Given the description of an element on the screen output the (x, y) to click on. 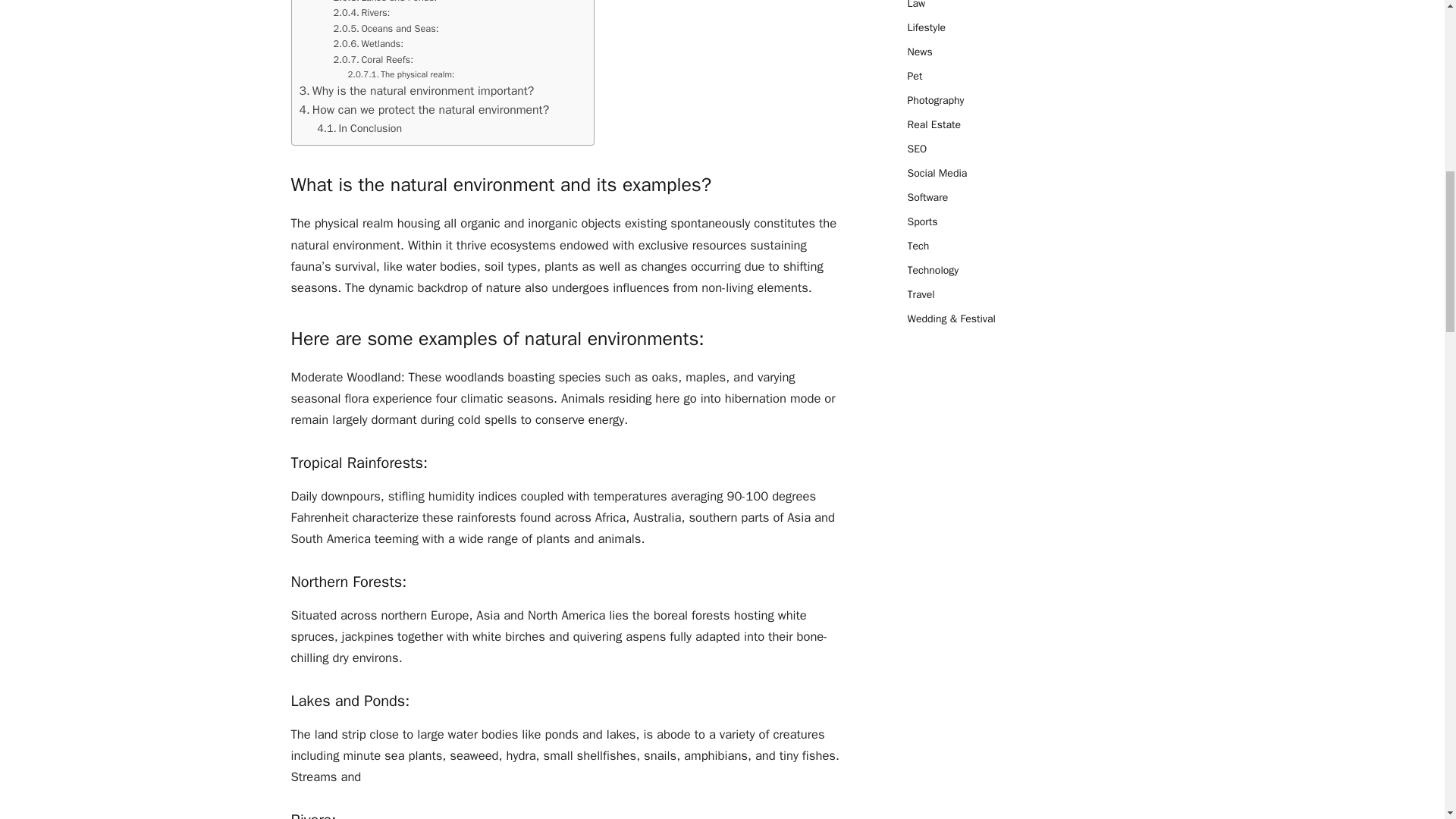
In Conclusion (359, 128)
Coral Reefs: (373, 59)
Why is the natural environment important? (416, 90)
Lakes and Ponds: (384, 2)
Wetlands: (368, 43)
Rivers: (361, 12)
Oceans and Seas: (385, 28)
The physical realm: (400, 74)
How can we protect the natural environment? (423, 109)
